Given the description of an element on the screen output the (x, y) to click on. 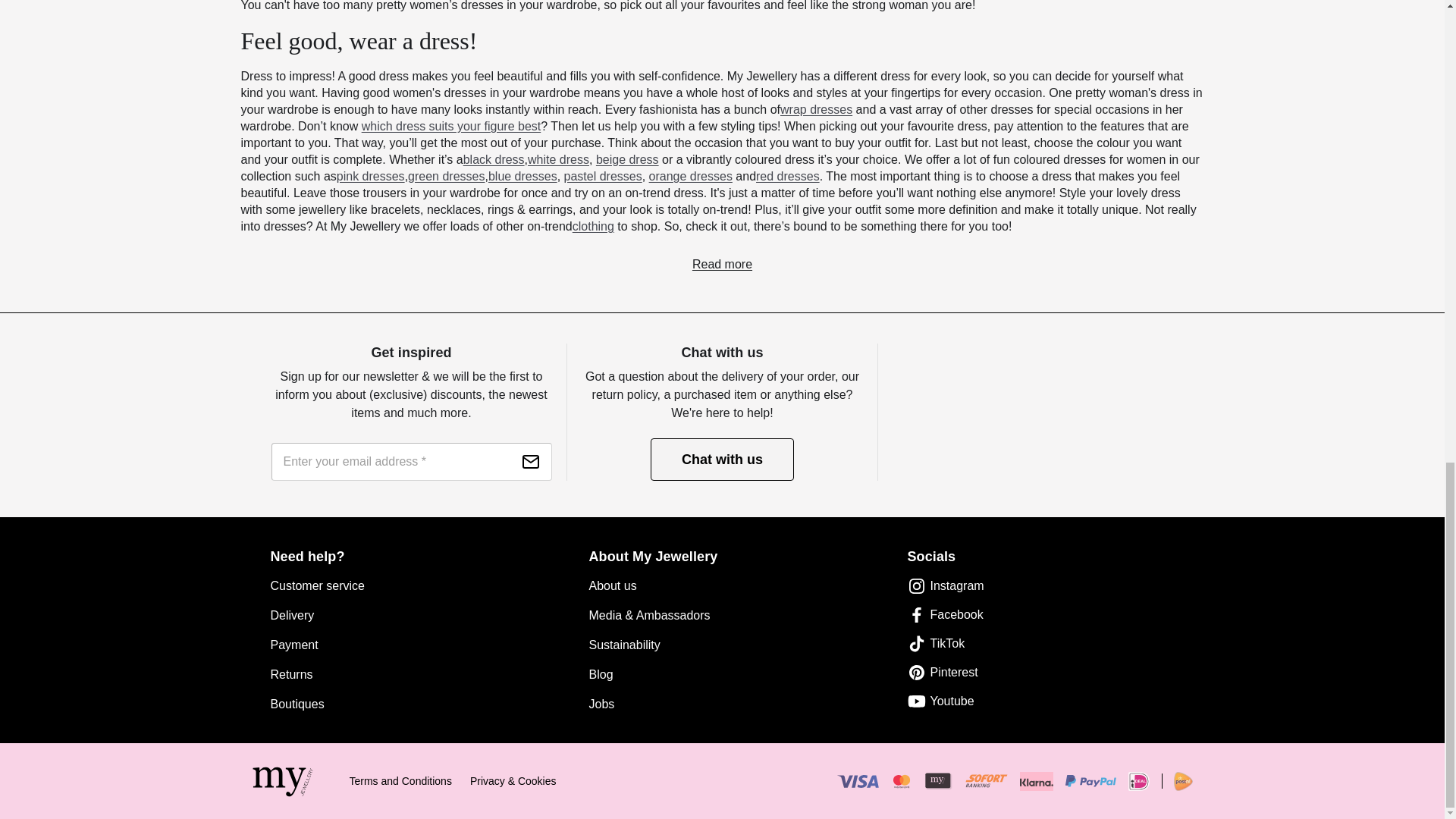
chat met ons (721, 459)
Subscribe (530, 461)
